Given the description of an element on the screen output the (x, y) to click on. 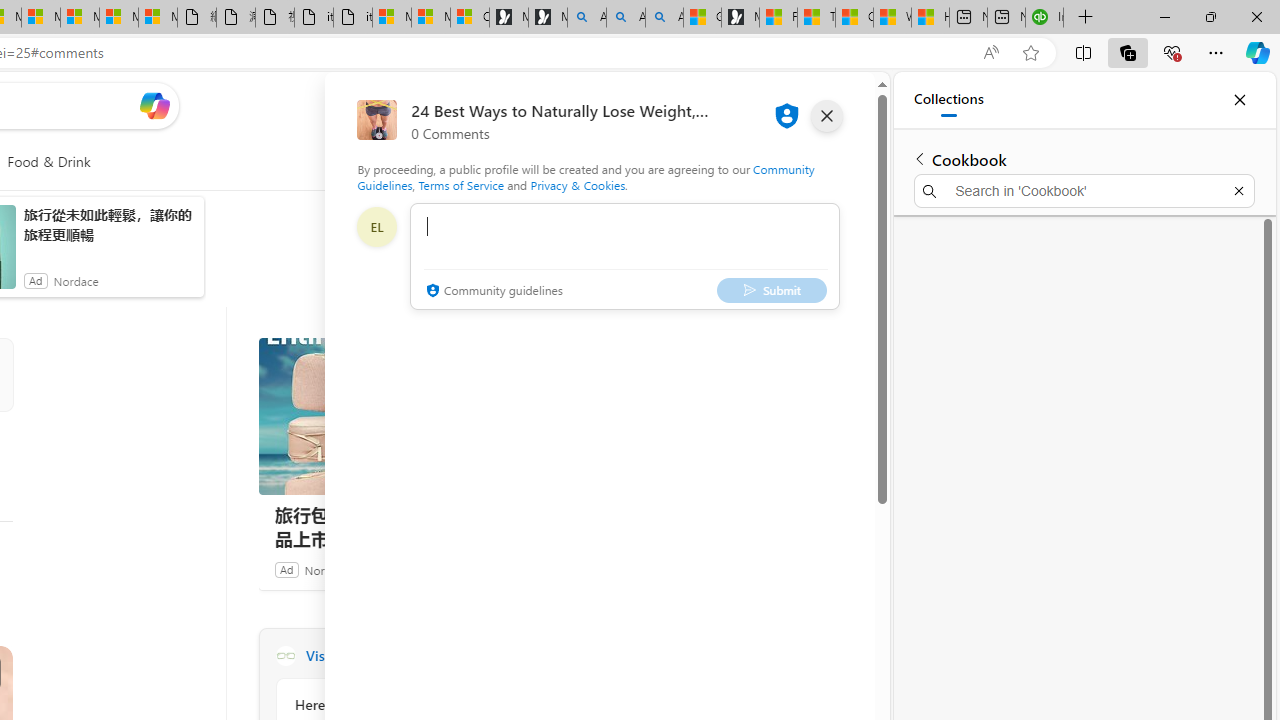
Consumer Health Data Privacy Policy (469, 17)
Submit (771, 290)
close (827, 115)
Community Guidelines (586, 176)
Privacy & Cookies (577, 184)
comment-box (624, 256)
